Given the description of an element on the screen output the (x, y) to click on. 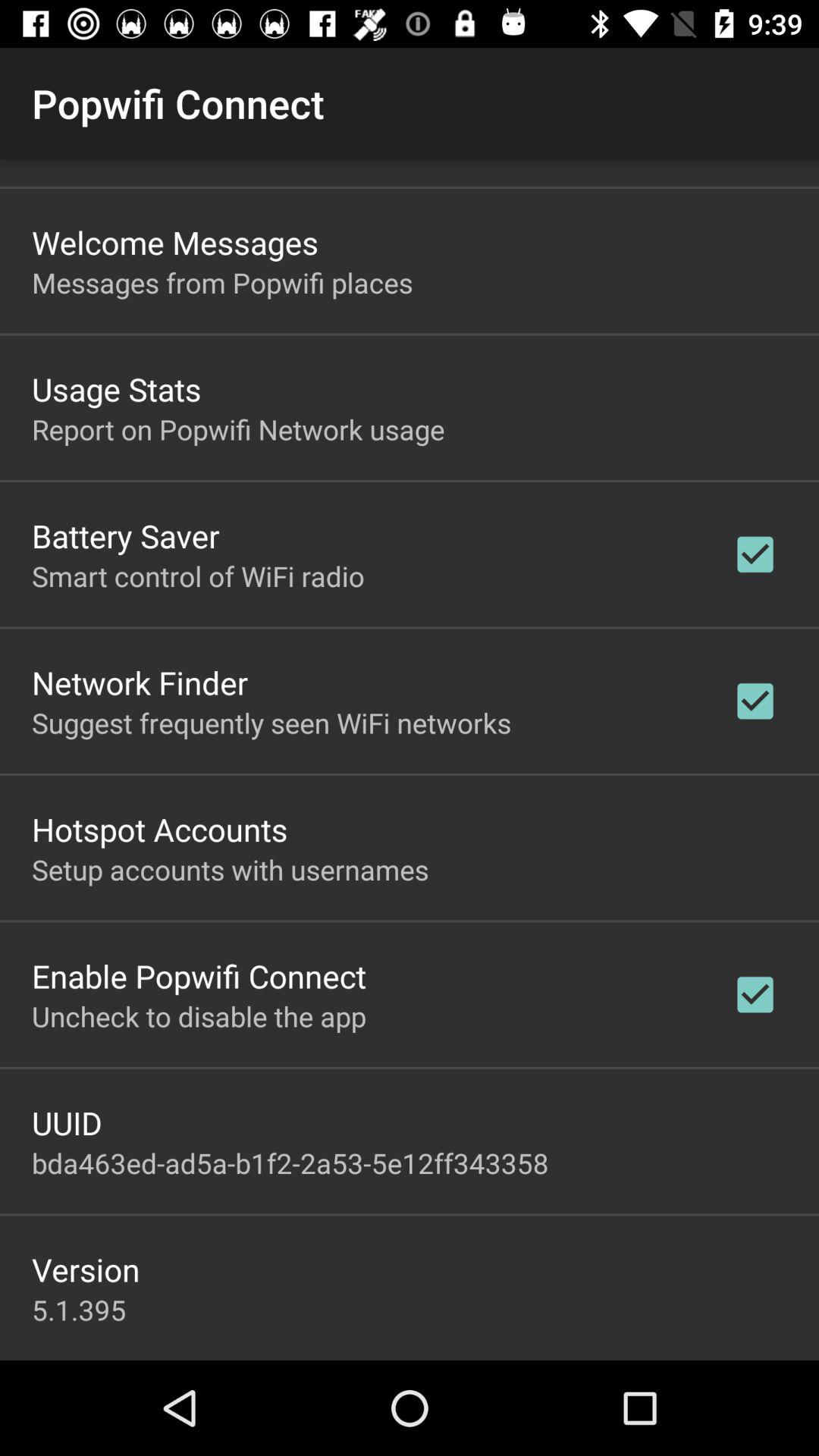
choose the icon above the enable popwifi connect item (229, 869)
